Given the description of an element on the screen output the (x, y) to click on. 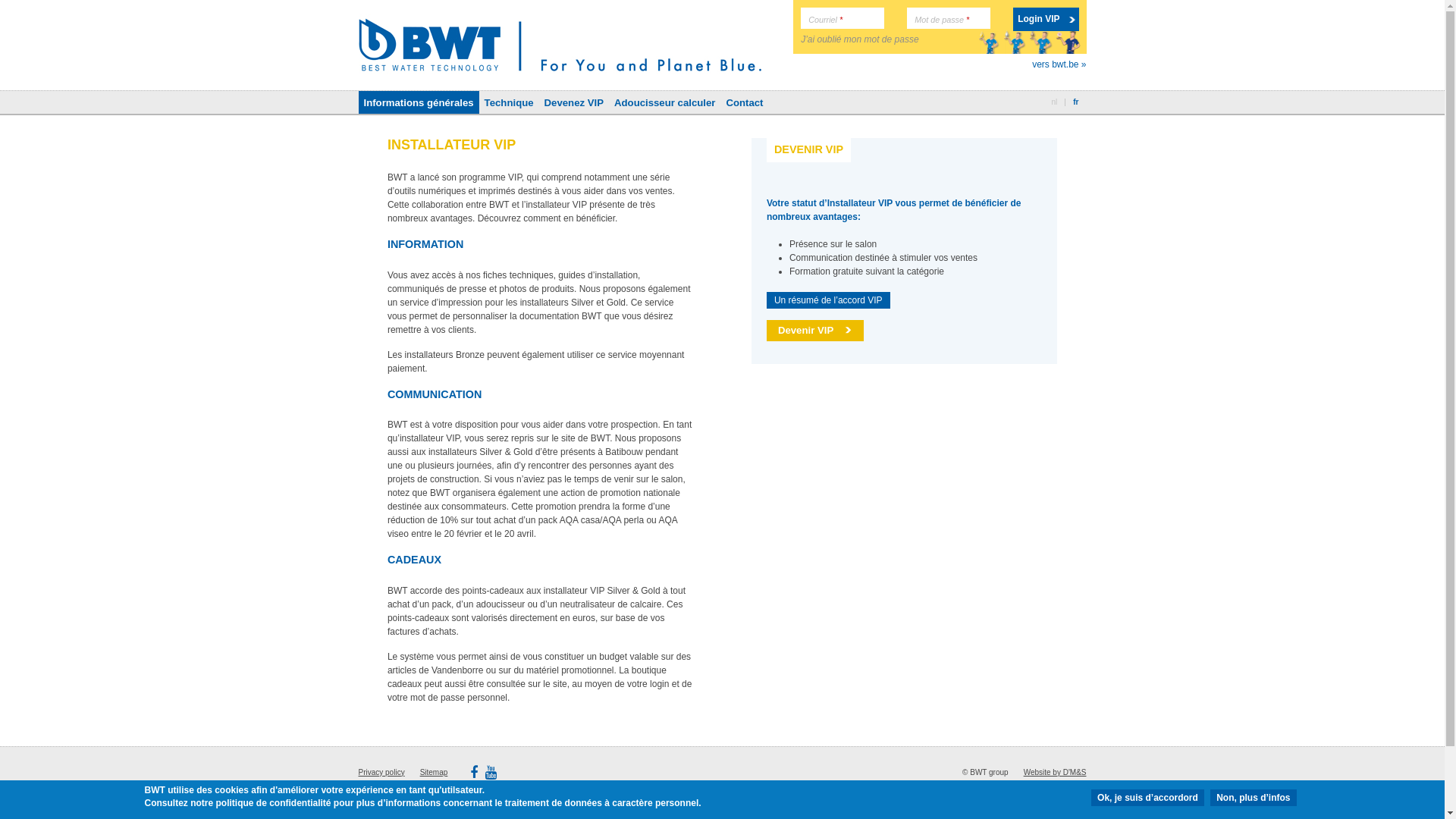
Technique Element type: text (509, 102)
Sitemap Element type: text (434, 772)
Privacy policy Element type: text (380, 772)
Devenir VIP Element type: text (814, 330)
nl Element type: text (1054, 102)
Accueil Element type: hover (559, 41)
Adoucisseur calculer Element type: text (664, 102)
Jump to navigation Element type: text (722, 2)
Devenez VIP Element type: text (573, 102)
Contact Element type: text (744, 102)
fr Element type: text (1075, 102)
Login VIP Element type: text (1045, 19)
Website by D'M&S Element type: text (1054, 772)
